Given the description of an element on the screen output the (x, y) to click on. 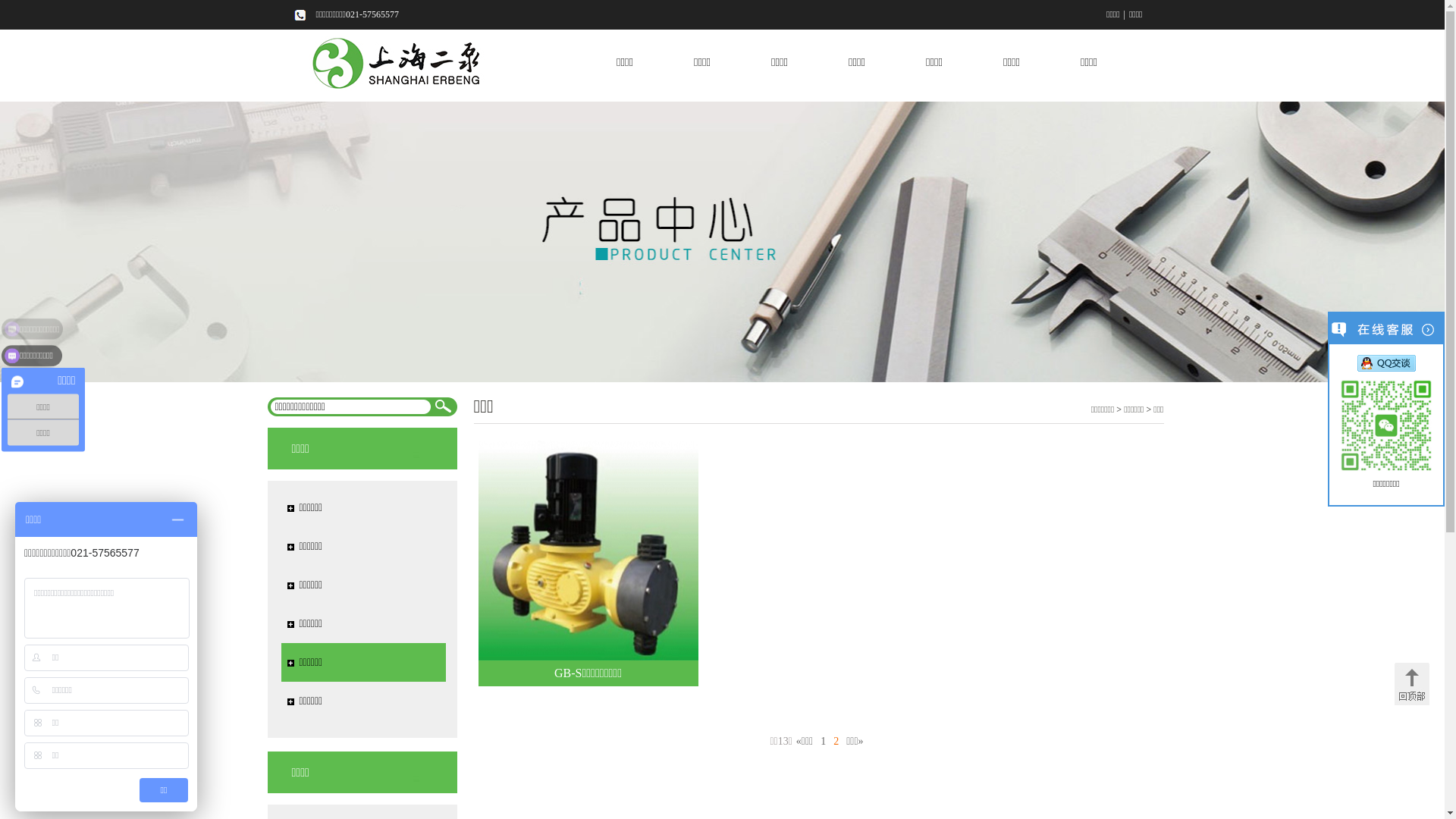
2 Element type: text (835, 740)
1 Element type: text (822, 740)
